Given the description of an element on the screen output the (x, y) to click on. 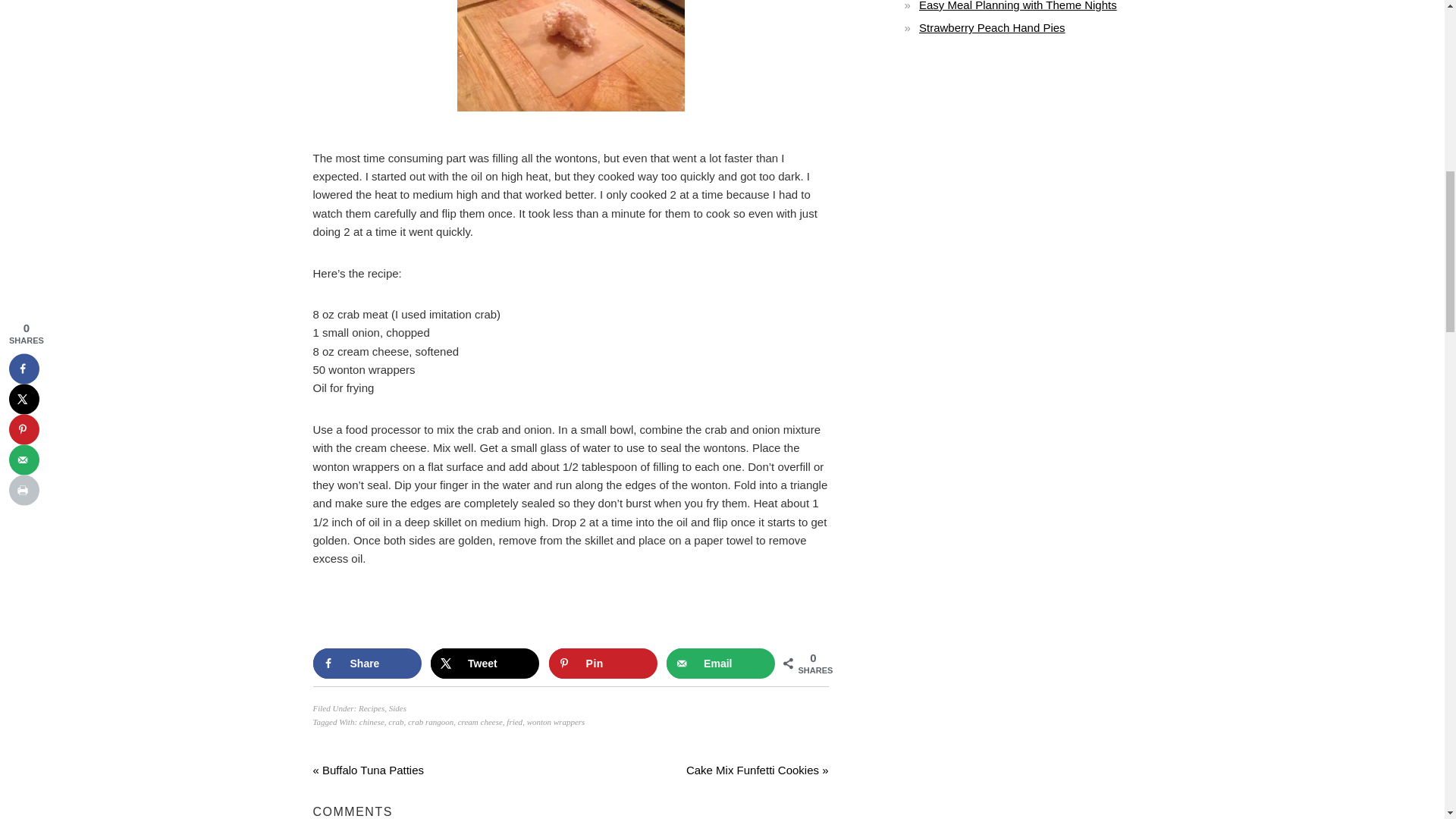
Share on X (484, 663)
Share (366, 663)
Tweet (484, 663)
Save to Pinterest (603, 663)
Share on Facebook (366, 663)
Pin (603, 663)
Send over email (720, 663)
